Given the description of an element on the screen output the (x, y) to click on. 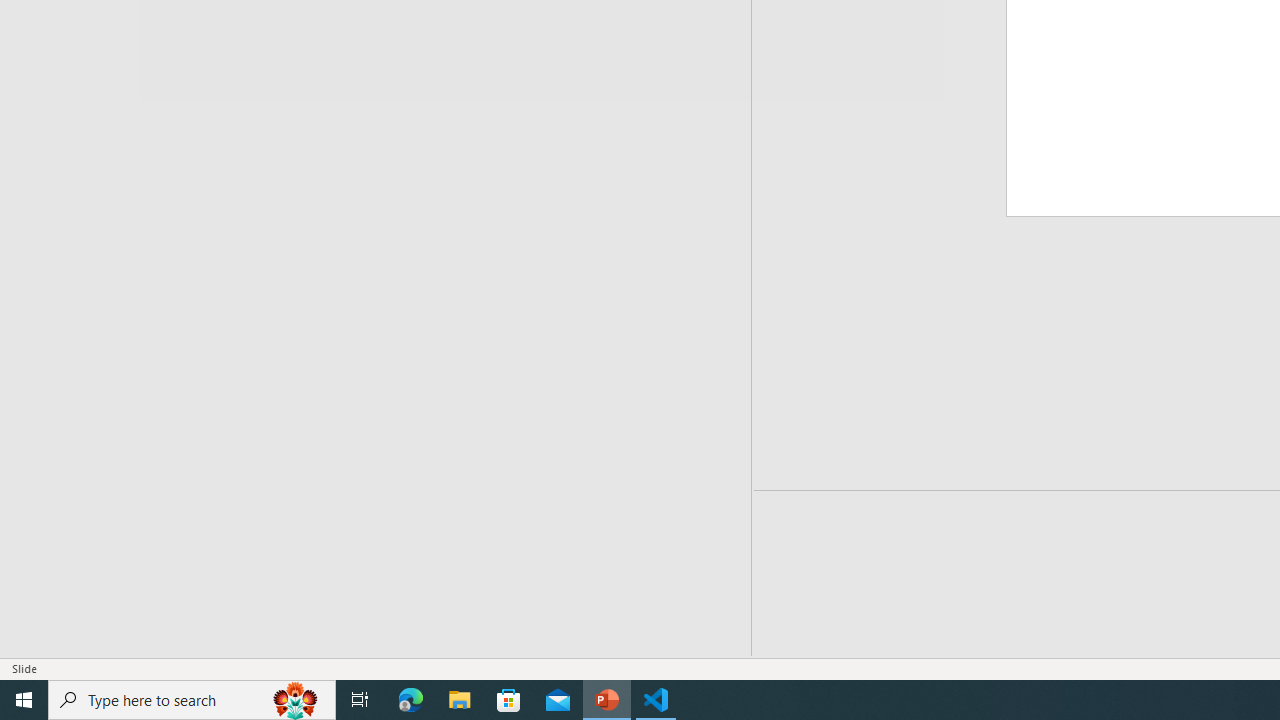
Microsoft Store (509, 699)
Visual Studio Code - 1 running window (656, 699)
Microsoft Edge (411, 699)
PowerPoint - 1 running window (607, 699)
Type here to search (191, 699)
Search highlights icon opens search home window (295, 699)
Task View (359, 699)
Start (24, 699)
File Explorer (460, 699)
